Given the description of an element on the screen output the (x, y) to click on. 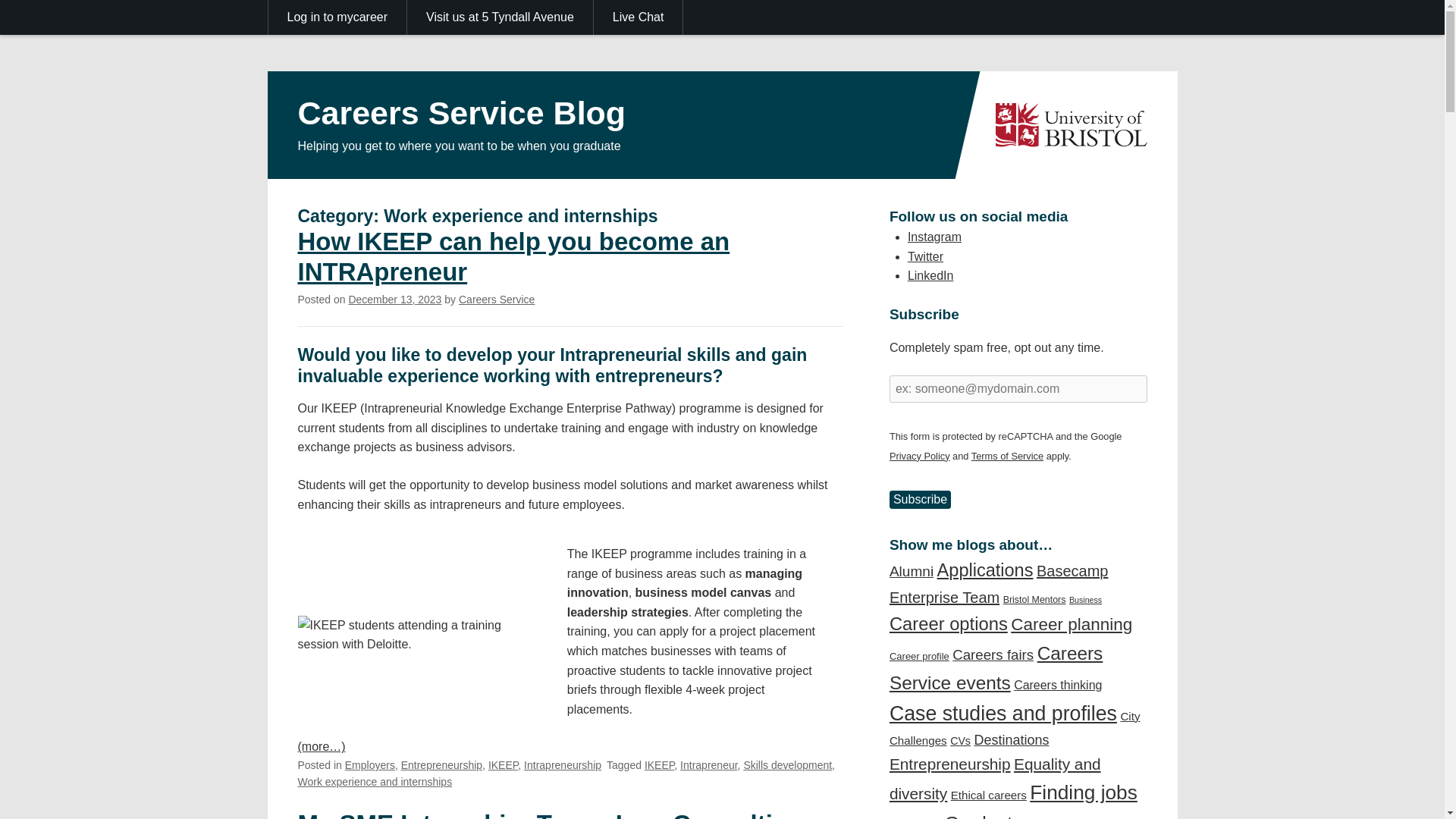
Intrapreneur (708, 765)
Visit us at 5 Tyndall Avenue (500, 17)
Careers Service (496, 299)
Follow us on LinkedIn (930, 275)
IKEEP (502, 765)
Subscribe (919, 499)
How IKEEP can help you become an INTRApreneur (513, 256)
IKEEP (659, 765)
December 13, 2023 (394, 299)
Skills development (786, 765)
Work experience and internships (374, 781)
Careers Service Blog (461, 113)
Follow us on Instagram (933, 236)
Employers (369, 765)
Log in to mycareer (337, 17)
